Given the description of an element on the screen output the (x, y) to click on. 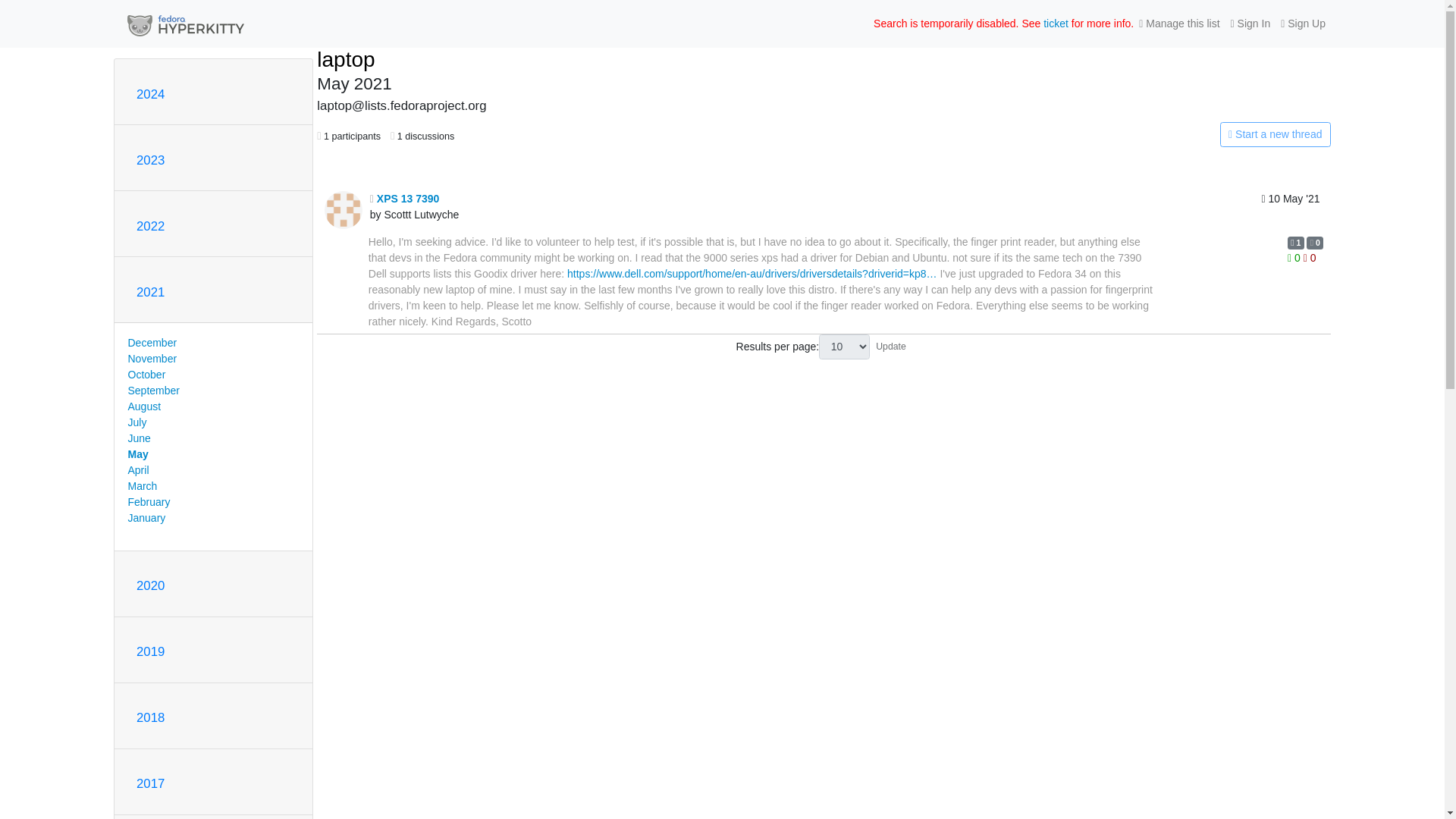
You must be logged-in to vote. (1309, 257)
ticket (1055, 23)
Manage this list (1179, 23)
2023 (150, 160)
You must be logged-in to create a thread. (1162, 135)
Fedora Mailing-Lists (184, 23)
2022 (150, 226)
Sign In (1250, 23)
Update (890, 346)
You must be logged-in to vote. (1295, 257)
